Given the description of an element on the screen output the (x, y) to click on. 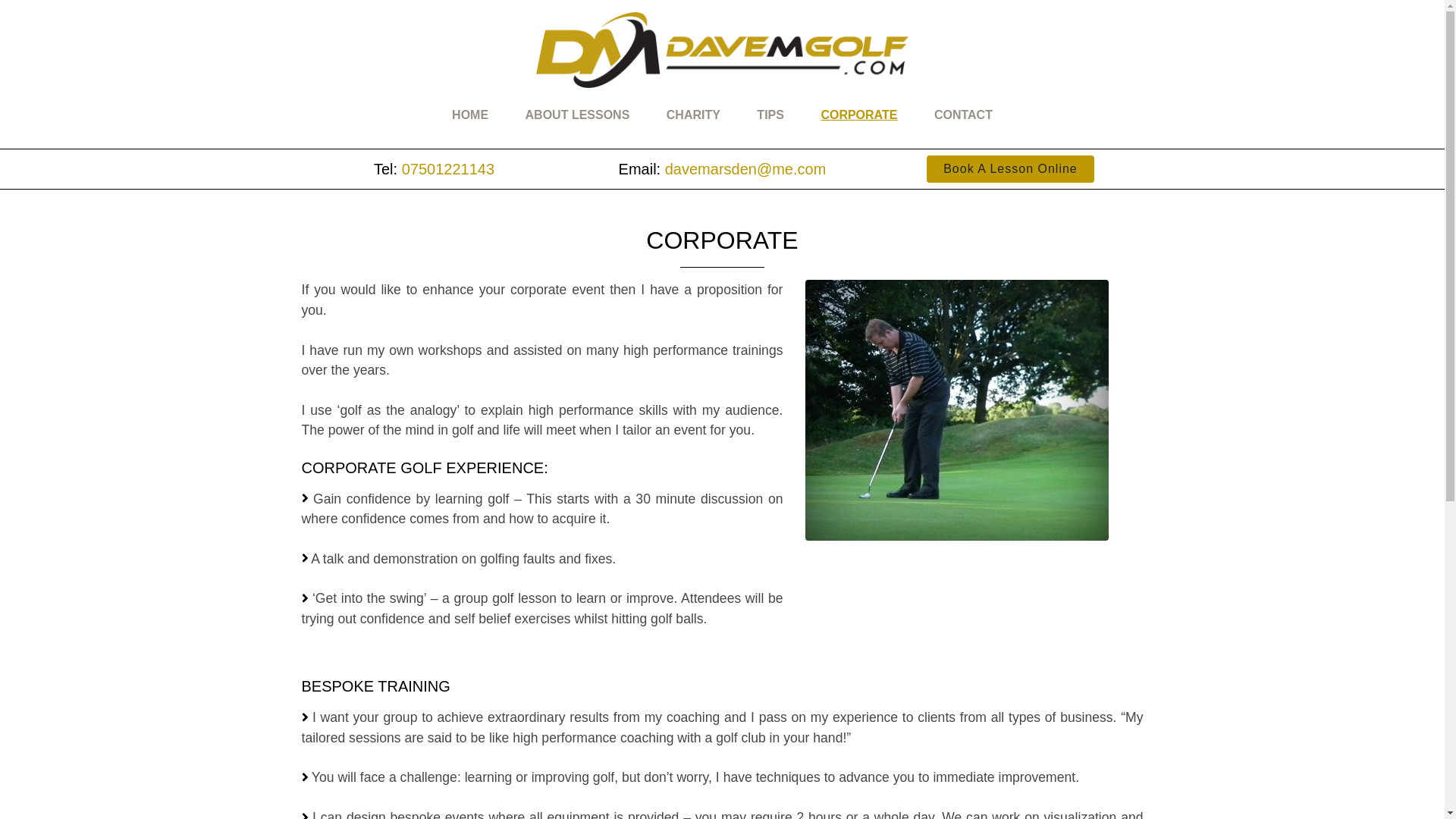
HOME (470, 114)
07501221143 (448, 168)
ABOUT LESSONS (577, 114)
CONTACT (963, 114)
CORPORATE (858, 114)
CHARITY (693, 114)
TIPS (769, 114)
Book A Lesson Online (1010, 168)
